Given the description of an element on the screen output the (x, y) to click on. 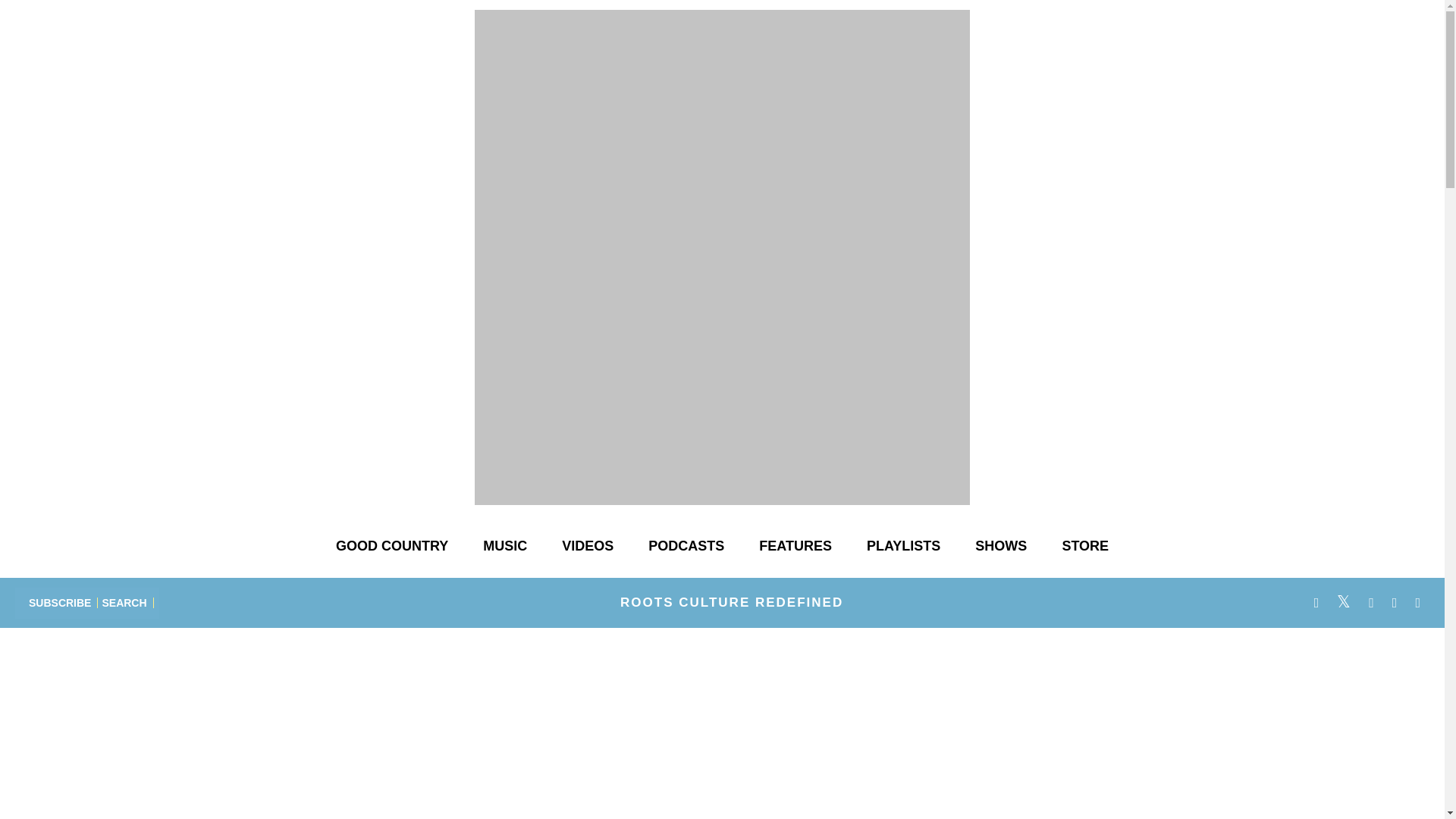
SHOWS (1000, 545)
PODCASTS (686, 545)
PLAYLISTS (903, 545)
STORE (1085, 545)
FEATURES (795, 545)
VIDEOS (588, 545)
MUSIC (504, 545)
SUBSCRIBE (60, 602)
SEARCH (124, 602)
GOOD COUNTRY (391, 545)
